Given the description of an element on the screen output the (x, y) to click on. 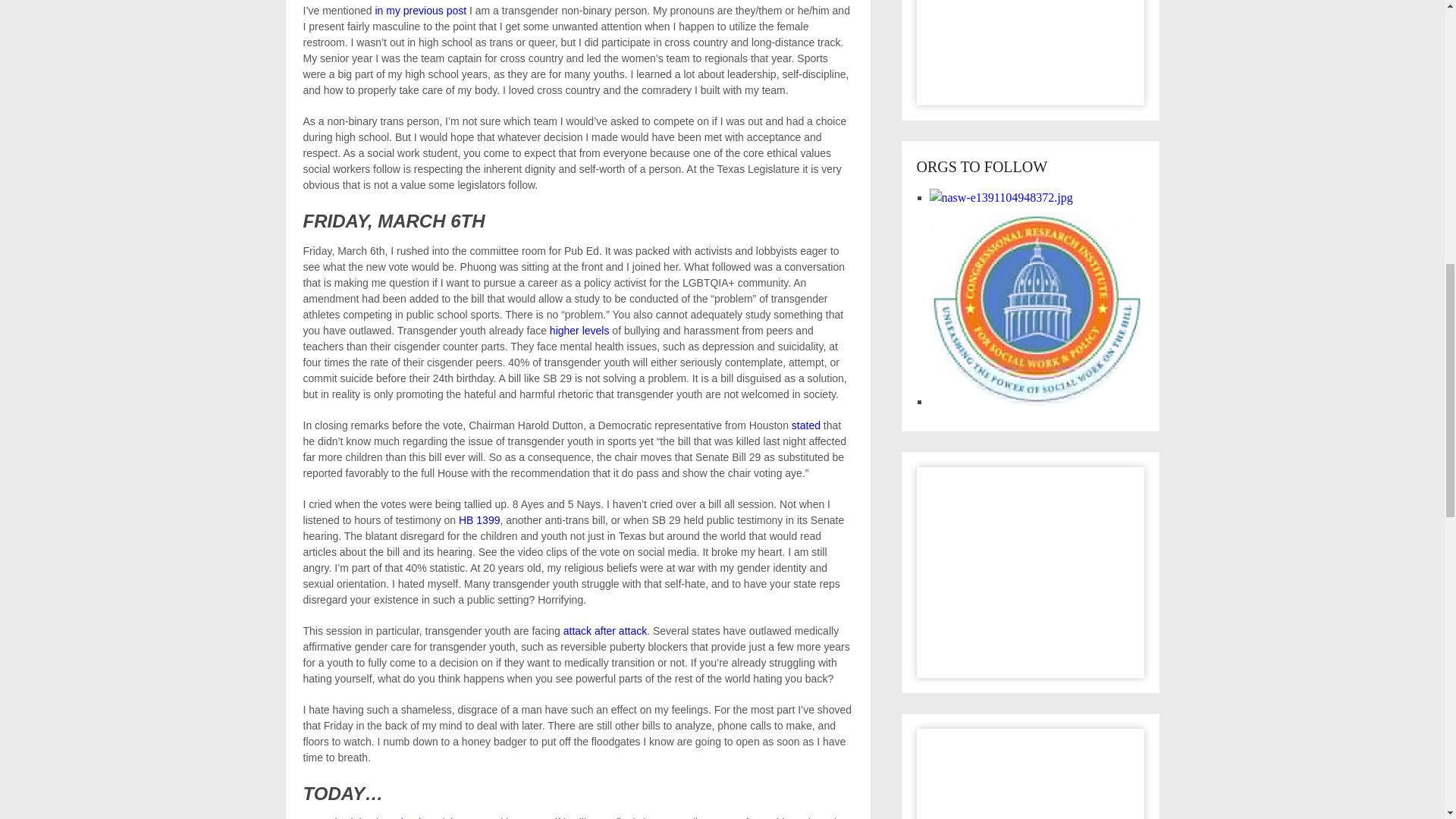
in my previous post (419, 10)
higher levels (580, 330)
